Given the description of an element on the screen output the (x, y) to click on. 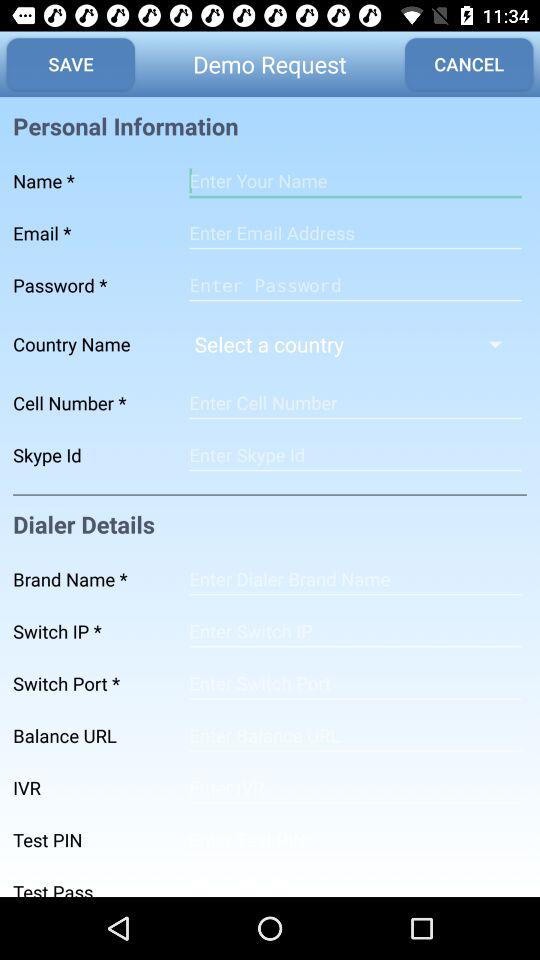
screen page (355, 840)
